Given the description of an element on the screen output the (x, y) to click on. 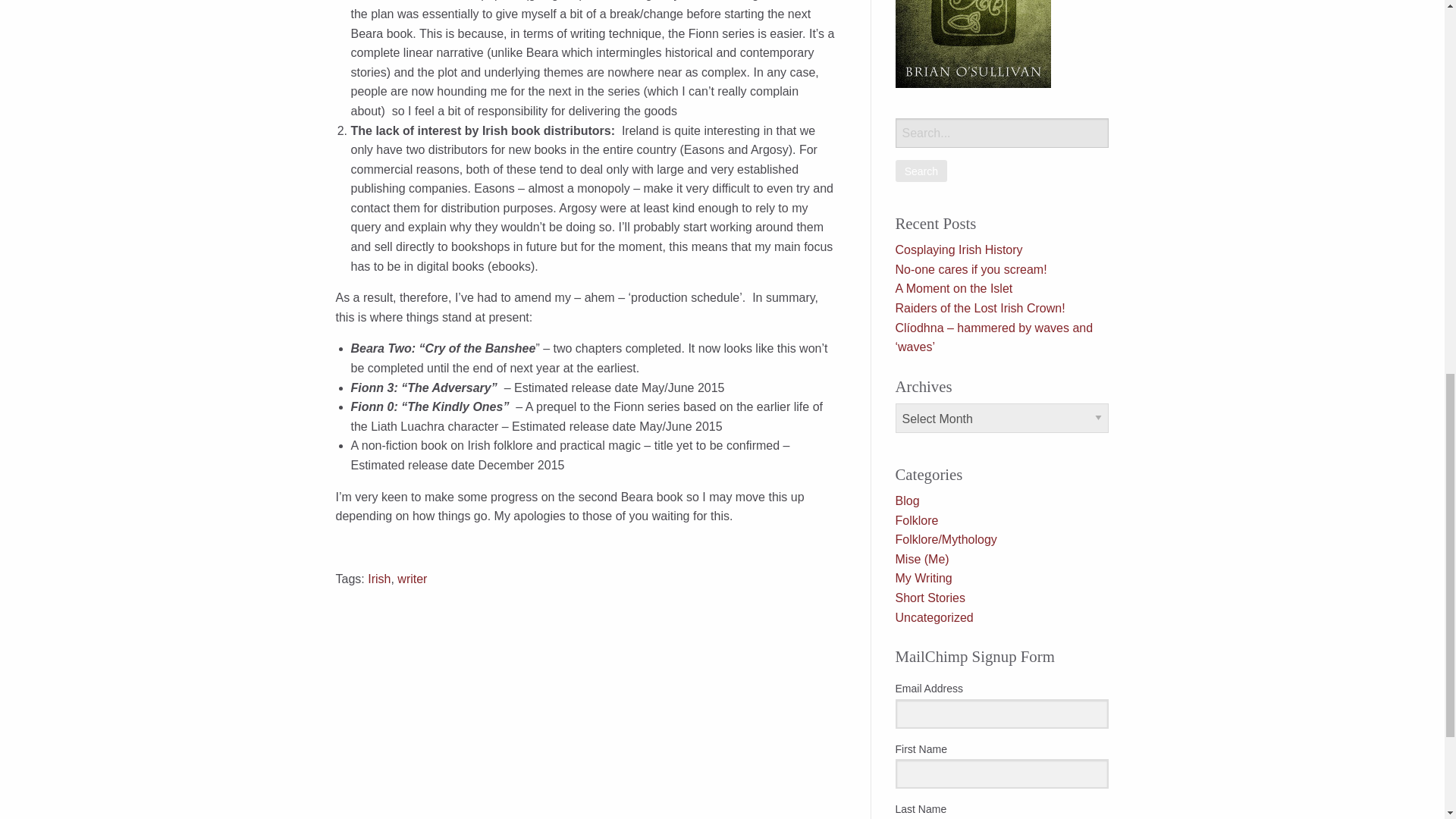
Search for: (1001, 132)
Search (921, 170)
Search (921, 170)
